Given the description of an element on the screen output the (x, y) to click on. 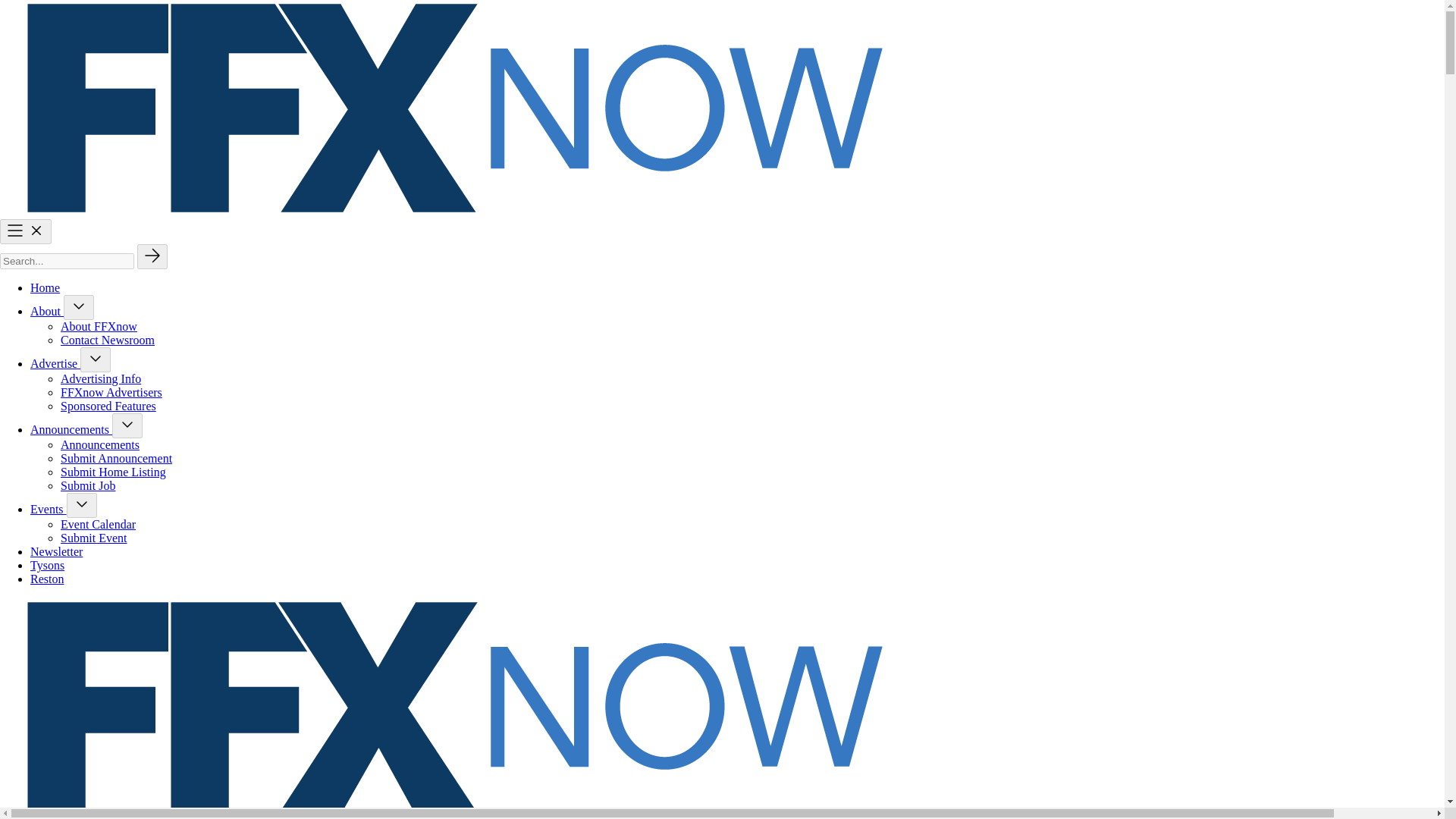
About FFXnow (98, 326)
Events (48, 508)
Reston (47, 578)
Newsletter (56, 551)
Advertising Info (101, 378)
Home (44, 287)
Tysons (47, 564)
Submit Job (88, 485)
Advertise (55, 363)
Sponsored Features (108, 405)
FFXnow Advertisers (111, 391)
About (47, 310)
Event Calendar (98, 523)
Submit Home Listing (113, 472)
Announcements (100, 444)
